Given the description of an element on the screen output the (x, y) to click on. 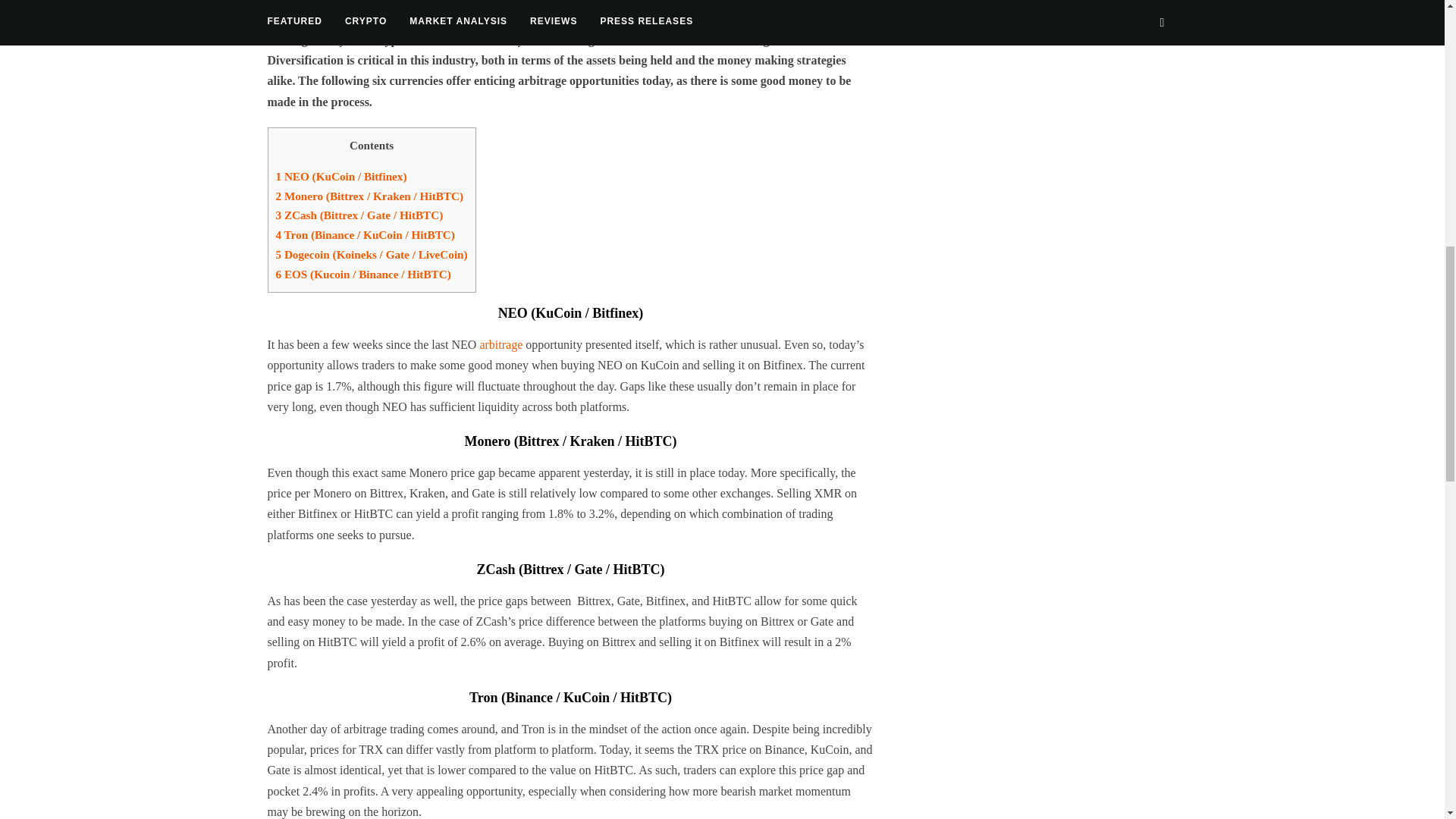
JP Buntinx (348, 2)
arbitrage (502, 344)
Posts by JP Buntinx (348, 2)
